Given the description of an element on the screen output the (x, y) to click on. 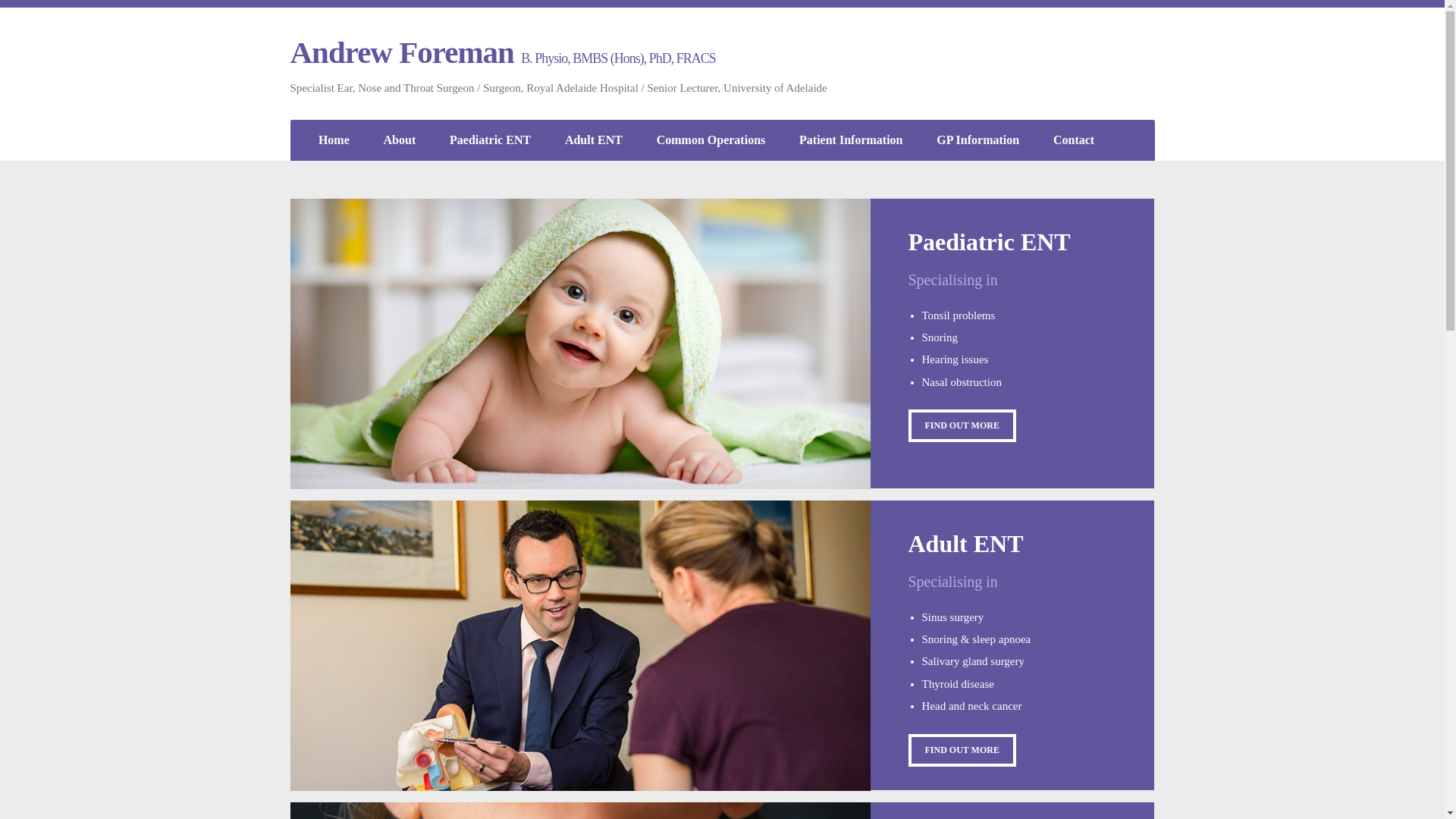
About Element type: text (399, 140)
Patient Information Element type: text (850, 140)
GP Information Element type: text (977, 140)
Home Element type: text (334, 140)
ENTSA Element type: text (1114, 71)
Adult ENT Element type: text (593, 140)
FIND OUT MORE Element type: text (962, 425)
Common Operations Element type: text (710, 140)
FIND OUT MORE Element type: text (962, 750)
Contact Element type: text (1073, 140)
Paediatric ENT Element type: text (490, 140)
